Given the description of an element on the screen output the (x, y) to click on. 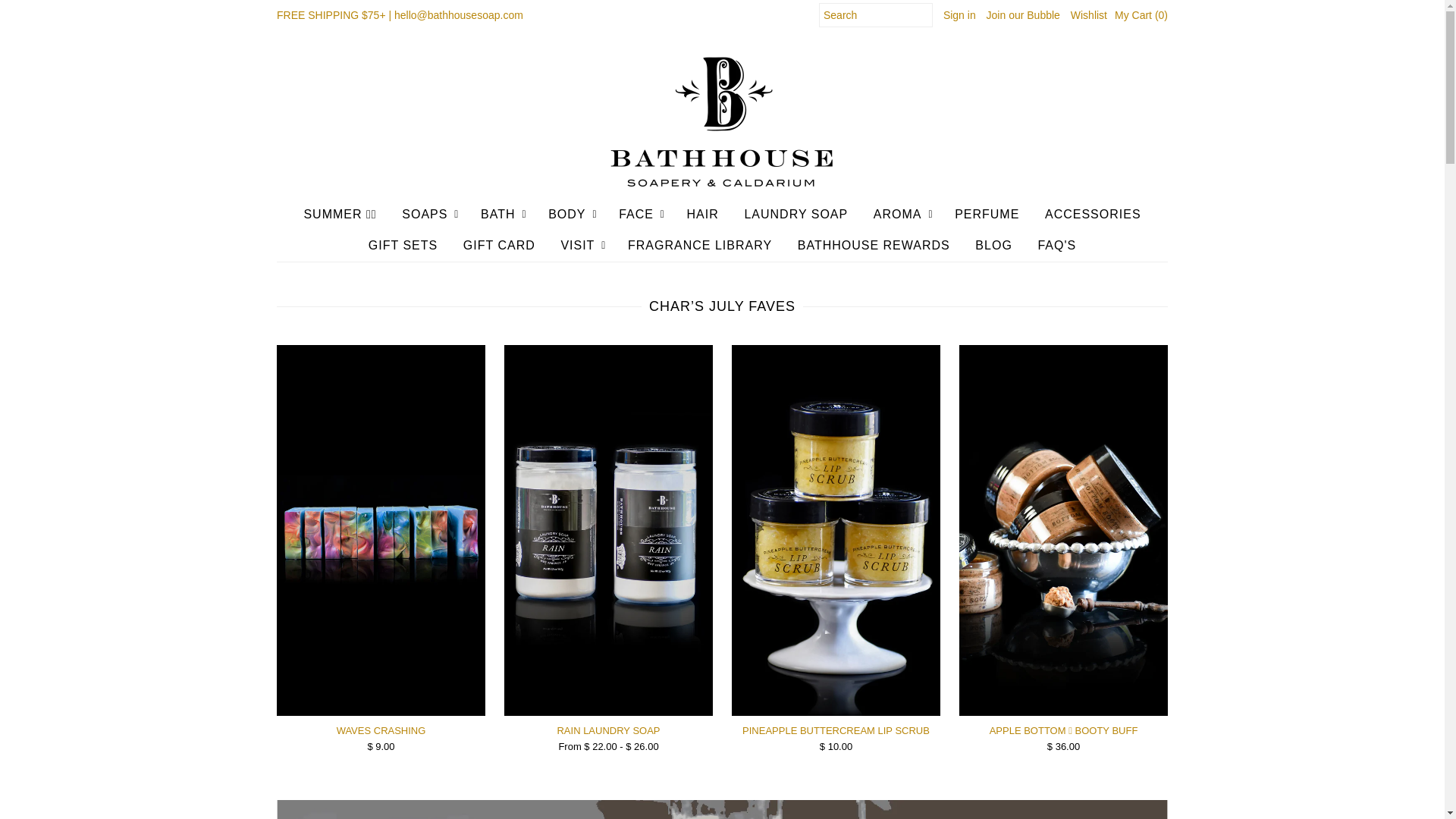
SOAPS (424, 214)
Sign in (959, 15)
Wishlist (1088, 15)
Join our Bubble (1023, 15)
